Given the description of an element on the screen output the (x, y) to click on. 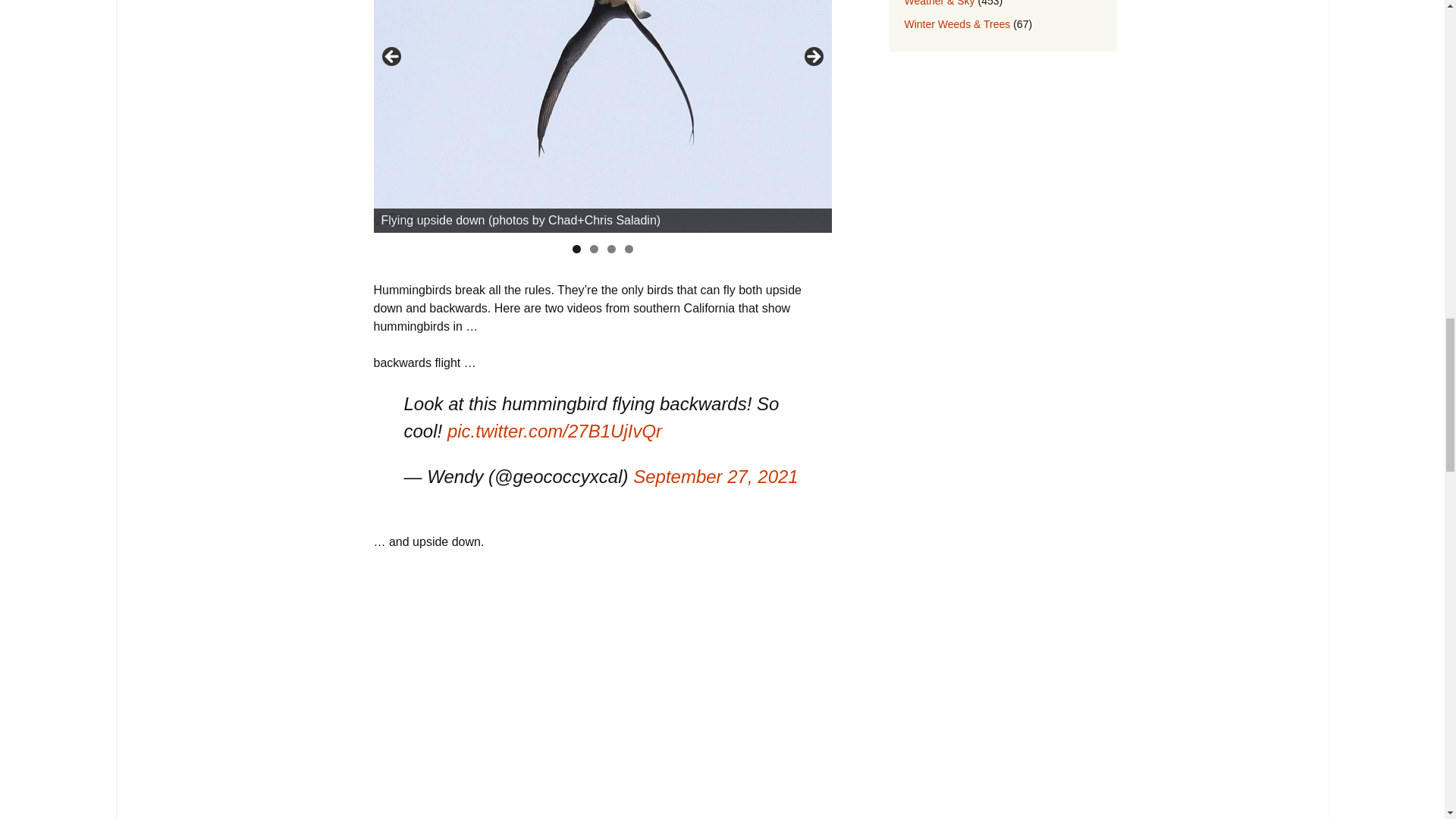
YouTube video player (584, 688)
1 (575, 248)
September 27, 2021 (715, 476)
3 (610, 248)
4 (628, 248)
2 (593, 248)
